Given the description of an element on the screen output the (x, y) to click on. 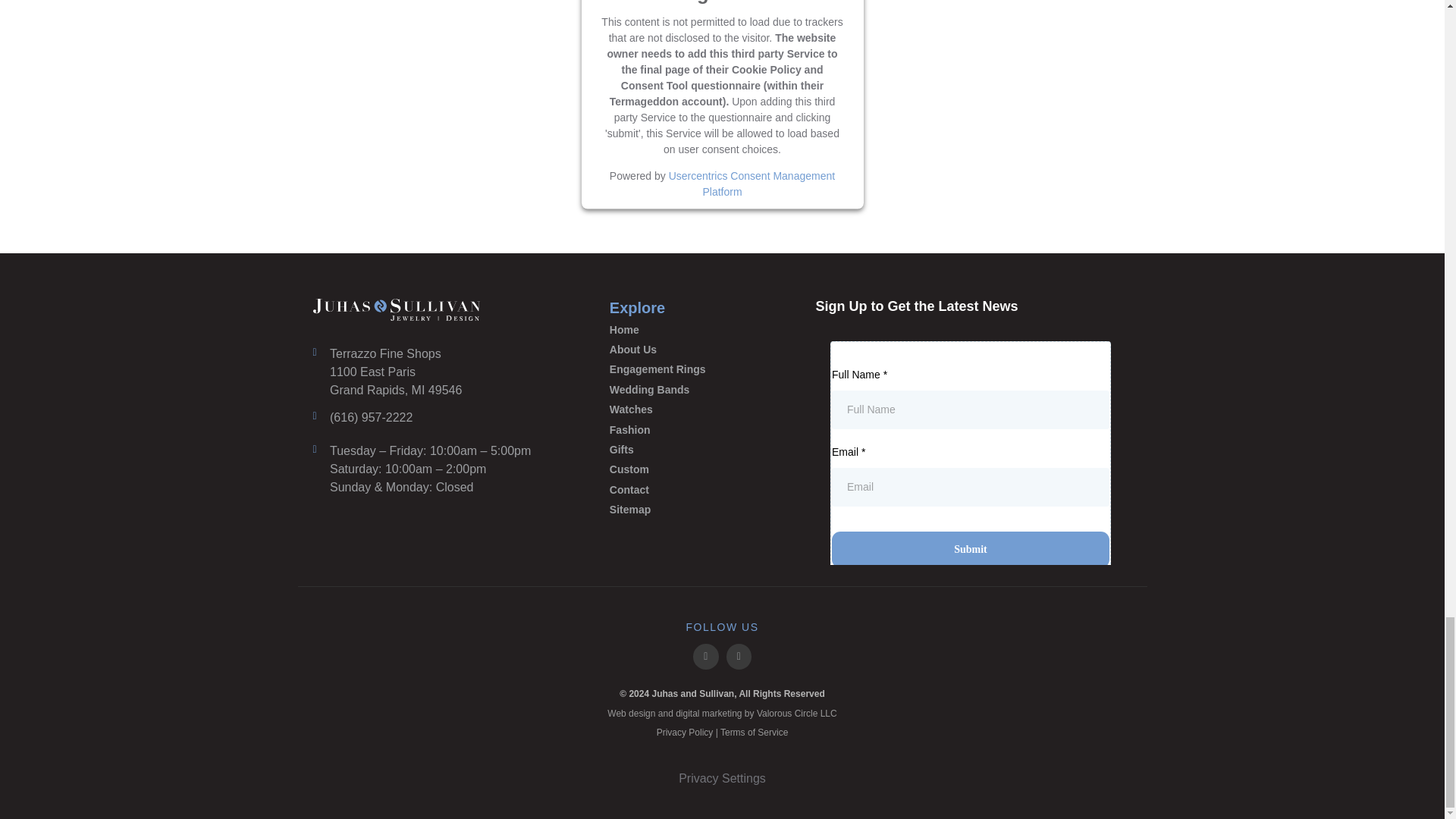
Grand Rapids Web Design (631, 713)
Grand Rapids Website Design (797, 713)
Proven Successful Online Marketing (708, 713)
